Given the description of an element on the screen output the (x, y) to click on. 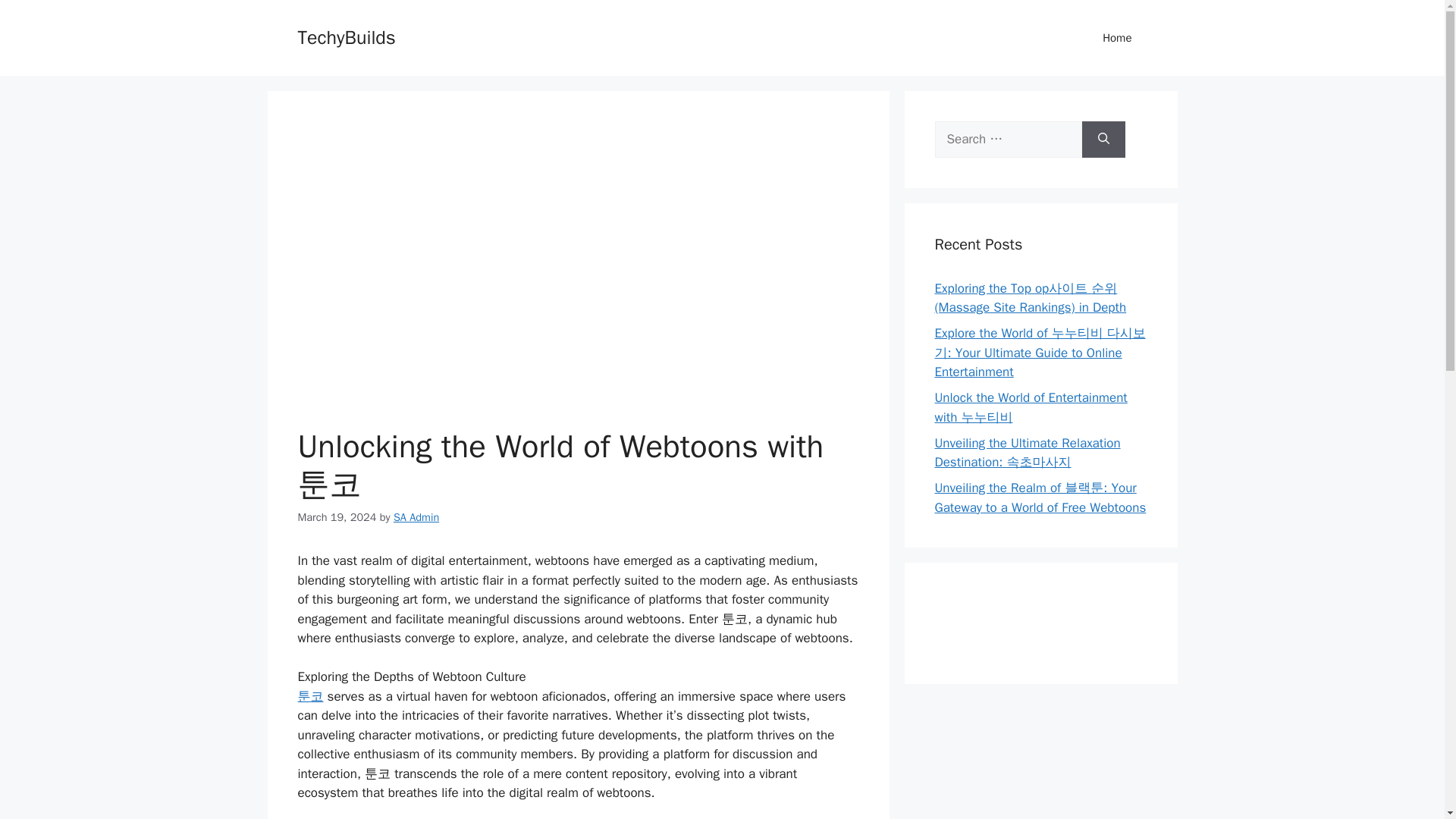
TechyBuilds (345, 37)
Search for: (1007, 139)
SA Admin (416, 516)
View all posts by SA Admin (416, 516)
Home (1117, 37)
